Given the description of an element on the screen output the (x, y) to click on. 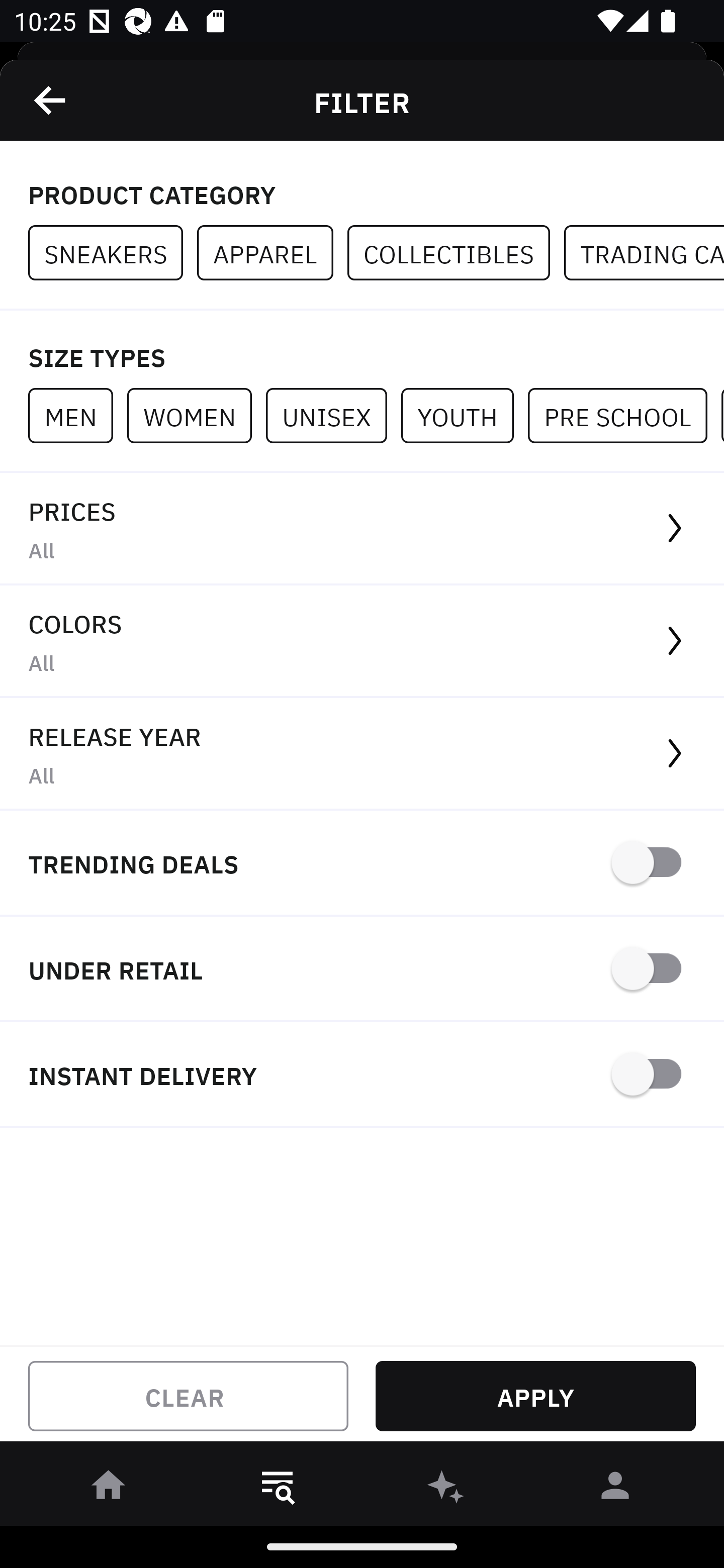
 (50, 100)
SNEAKERS (112, 252)
APPAREL (271, 252)
COLLECTIBLES (455, 252)
TRADING CARDS (643, 252)
MEN (77, 415)
WOMEN (196, 415)
UNISEX (333, 415)
YOUTH (464, 415)
PRE SCHOOL (624, 415)
PRICES All (362, 528)
COLORS All (362, 640)
RELEASE YEAR All (362, 753)
TRENDING DEALS (362, 863)
UNDER RETAIL (362, 969)
INSTANT DELIVERY (362, 1075)
CLEAR  (188, 1396)
APPLY (535, 1396)
󰋜 (108, 1488)
󱎸 (277, 1488)
󰫢 (446, 1488)
󰀄 (615, 1488)
